Given the description of an element on the screen output the (x, y) to click on. 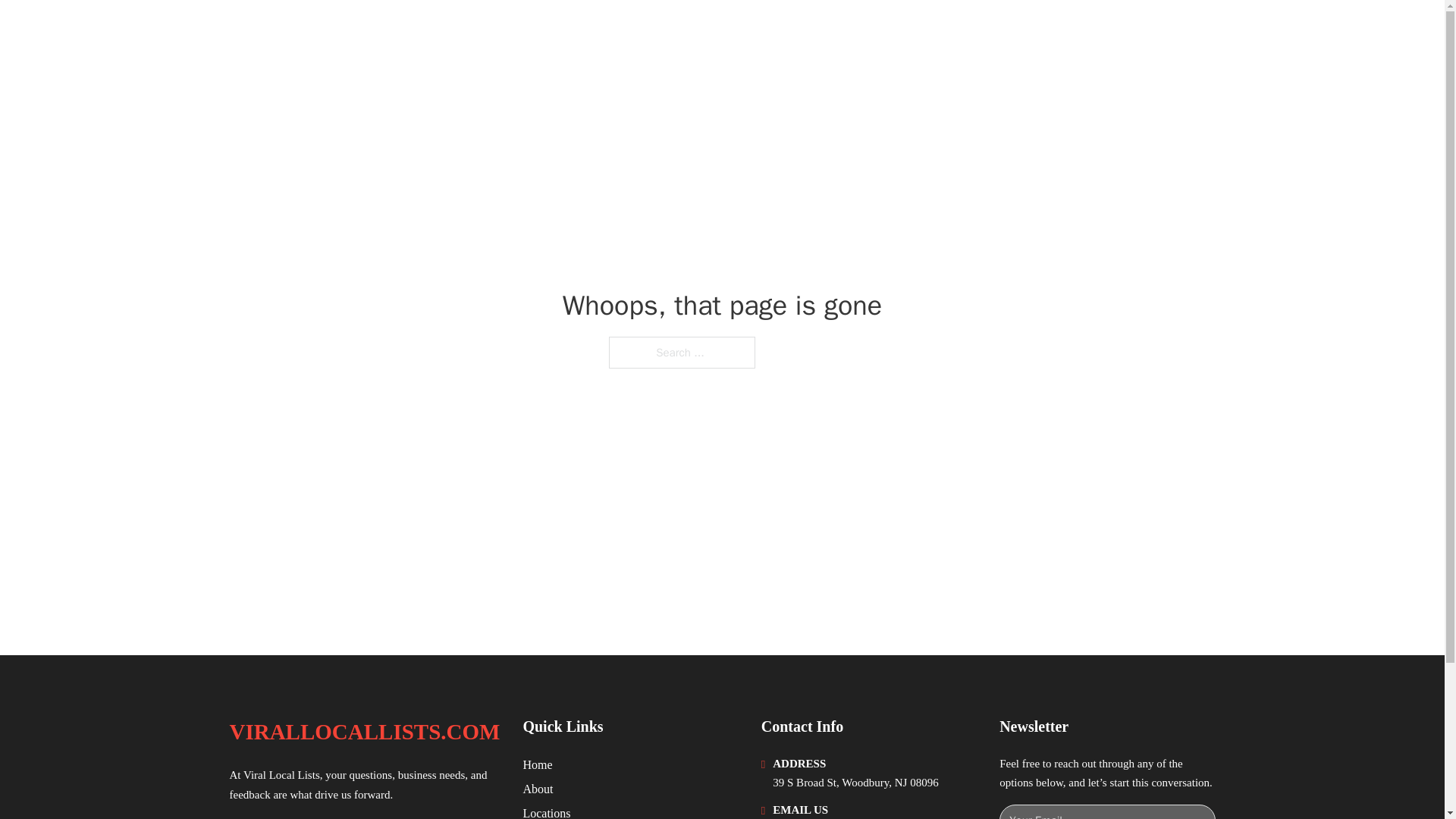
Locations (546, 811)
LOCATIONS (1098, 31)
HOME (1025, 31)
About (537, 788)
Home (536, 764)
VIRALLOCALLISTS.COM (377, 31)
VIRALLOCALLISTS.COM (363, 732)
